Given the description of an element on the screen output the (x, y) to click on. 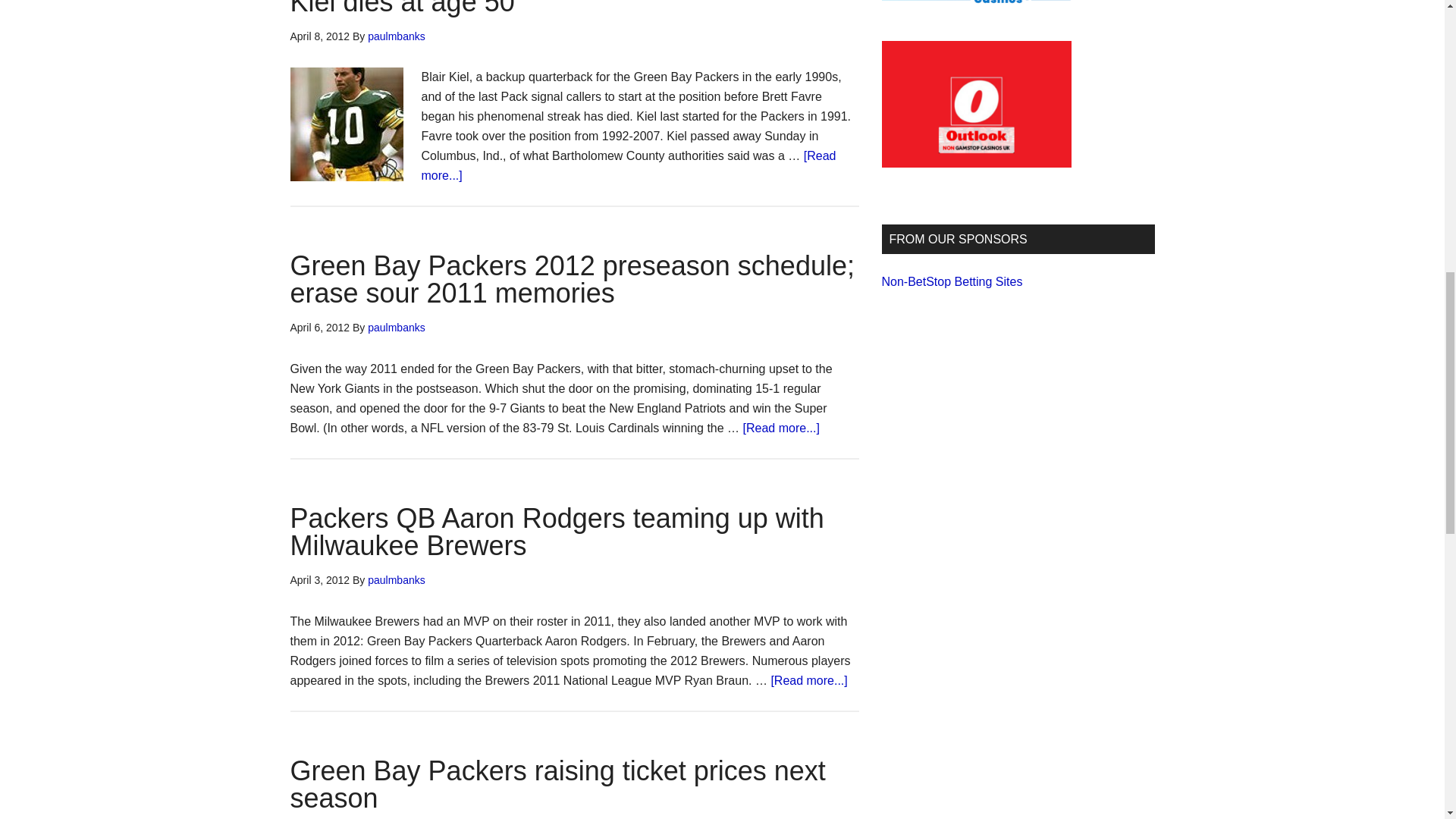
paulmbanks (396, 580)
Green Bay Packers raising ticket prices next season (557, 784)
Packers QB Aaron Rodgers teaming up with Milwaukee Brewers (556, 531)
paulmbanks (396, 327)
paulmbanks (396, 36)
